Given the description of an element on the screen output the (x, y) to click on. 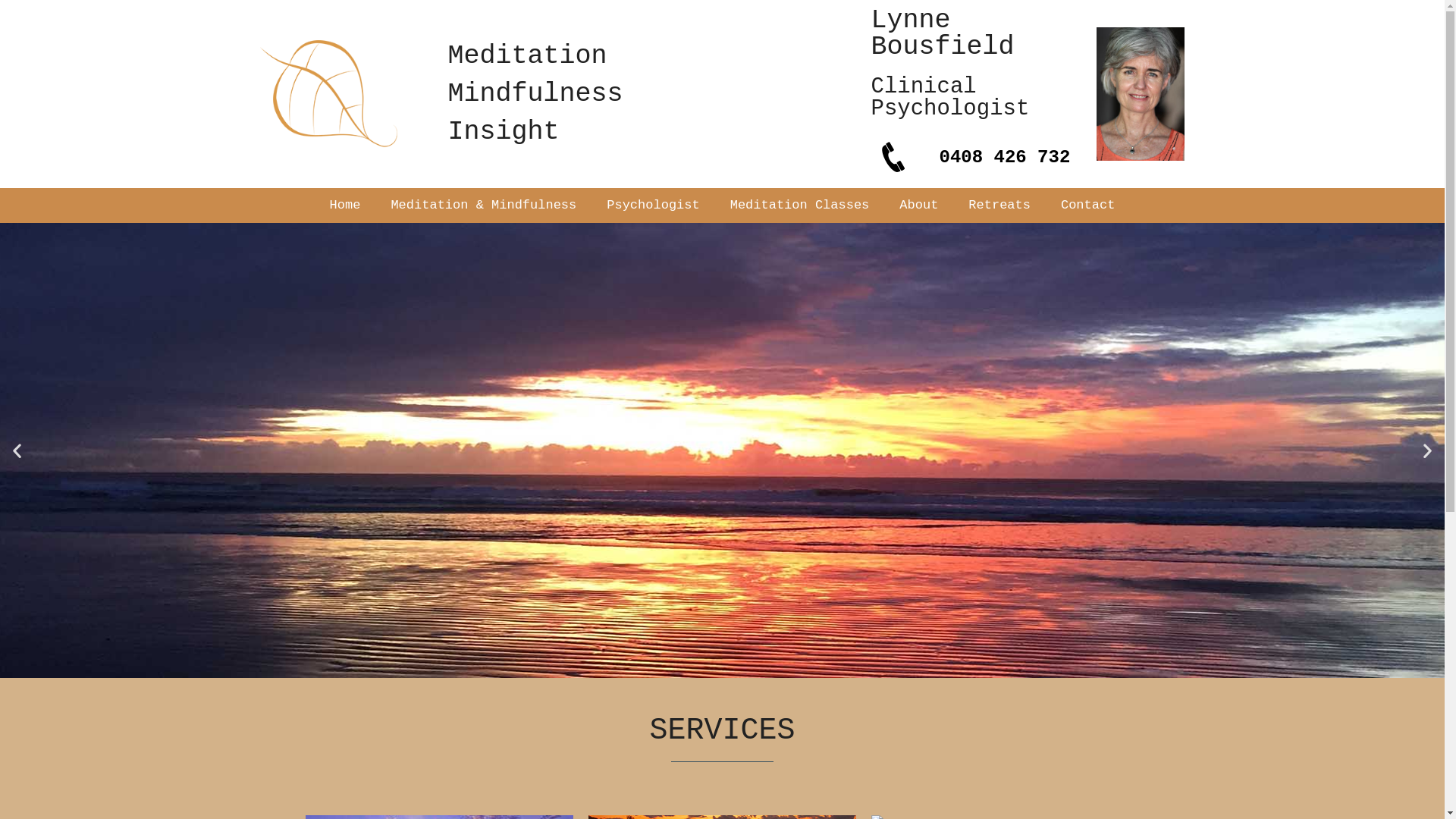
Retreats Element type: text (999, 205)
Meditation Classes Element type: text (799, 205)
Home Element type: text (345, 205)
About Element type: text (918, 205)
Psychologist Element type: text (652, 205)
Meditation & Mindfulness Element type: text (483, 205)
Contact Element type: text (1087, 205)
